Given the description of an element on the screen output the (x, y) to click on. 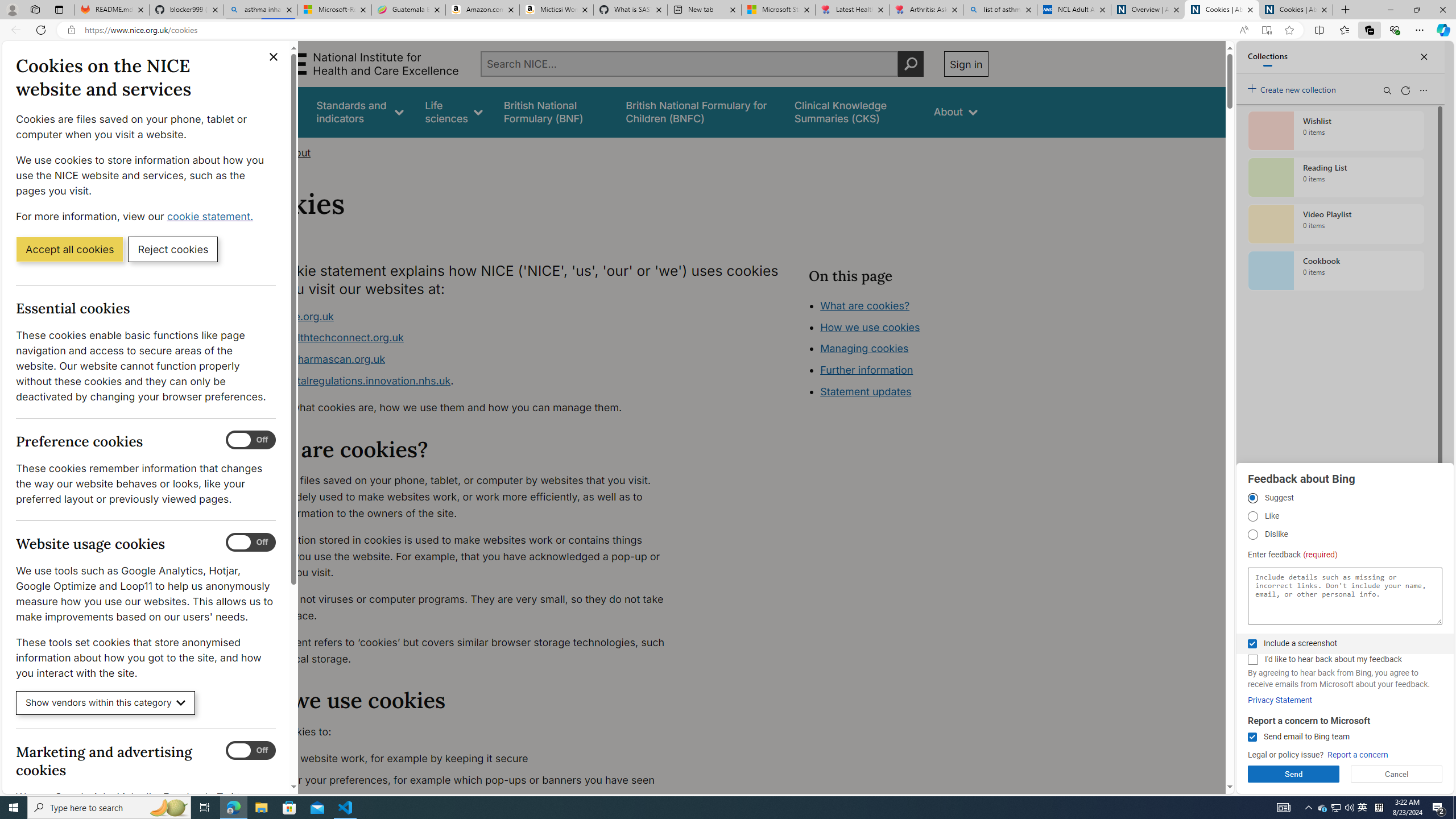
I'd like to hear back about my feedback (1252, 659)
www.nice.org.uk (292, 315)
www.healthtechconnect.org.uk (464, 338)
Preference cookies (250, 439)
Managing cookies (863, 348)
Marketing and advertising cookies (250, 750)
